Given the description of an element on the screen output the (x, y) to click on. 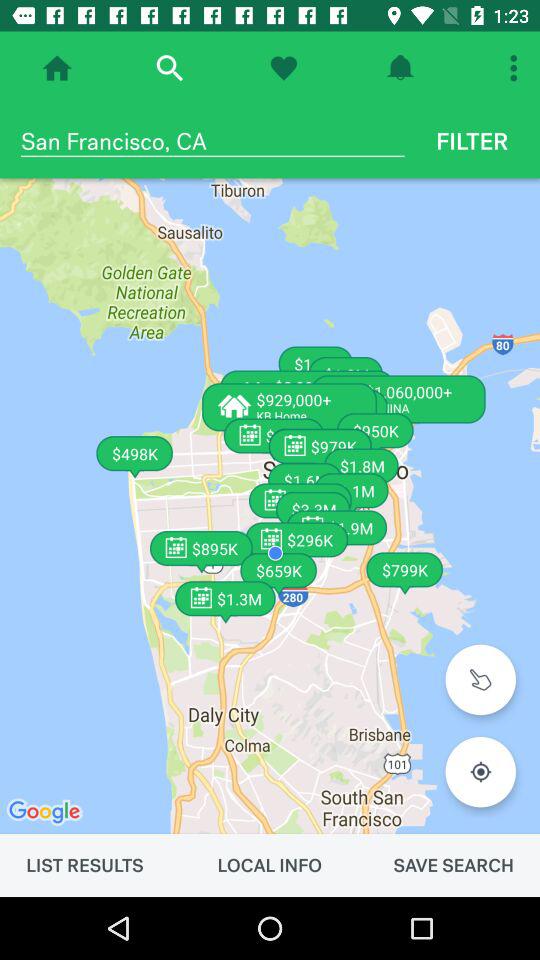
tap local info icon (269, 865)
